Given the description of an element on the screen output the (x, y) to click on. 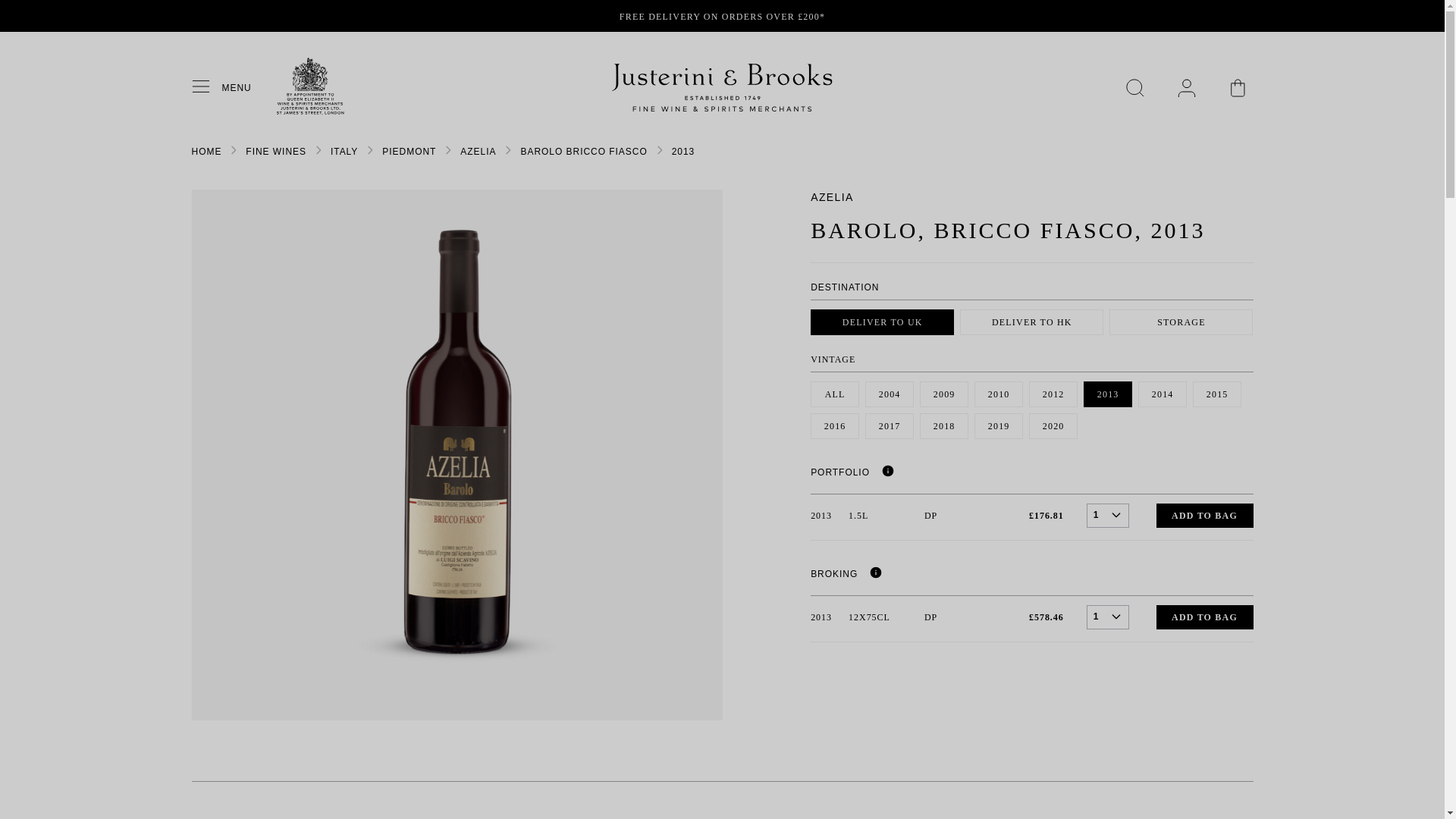
Menu (205, 87)
Chevron Right (507, 150)
Chevron Right (233, 150)
JB Logo (721, 87)
Royal Warrant Logo (309, 110)
Your Bag (1237, 87)
Chevron Right (448, 150)
Search (1133, 87)
Chevron Right (318, 150)
Your Personal Cellar (1185, 87)
